Given the description of an element on the screen output the (x, y) to click on. 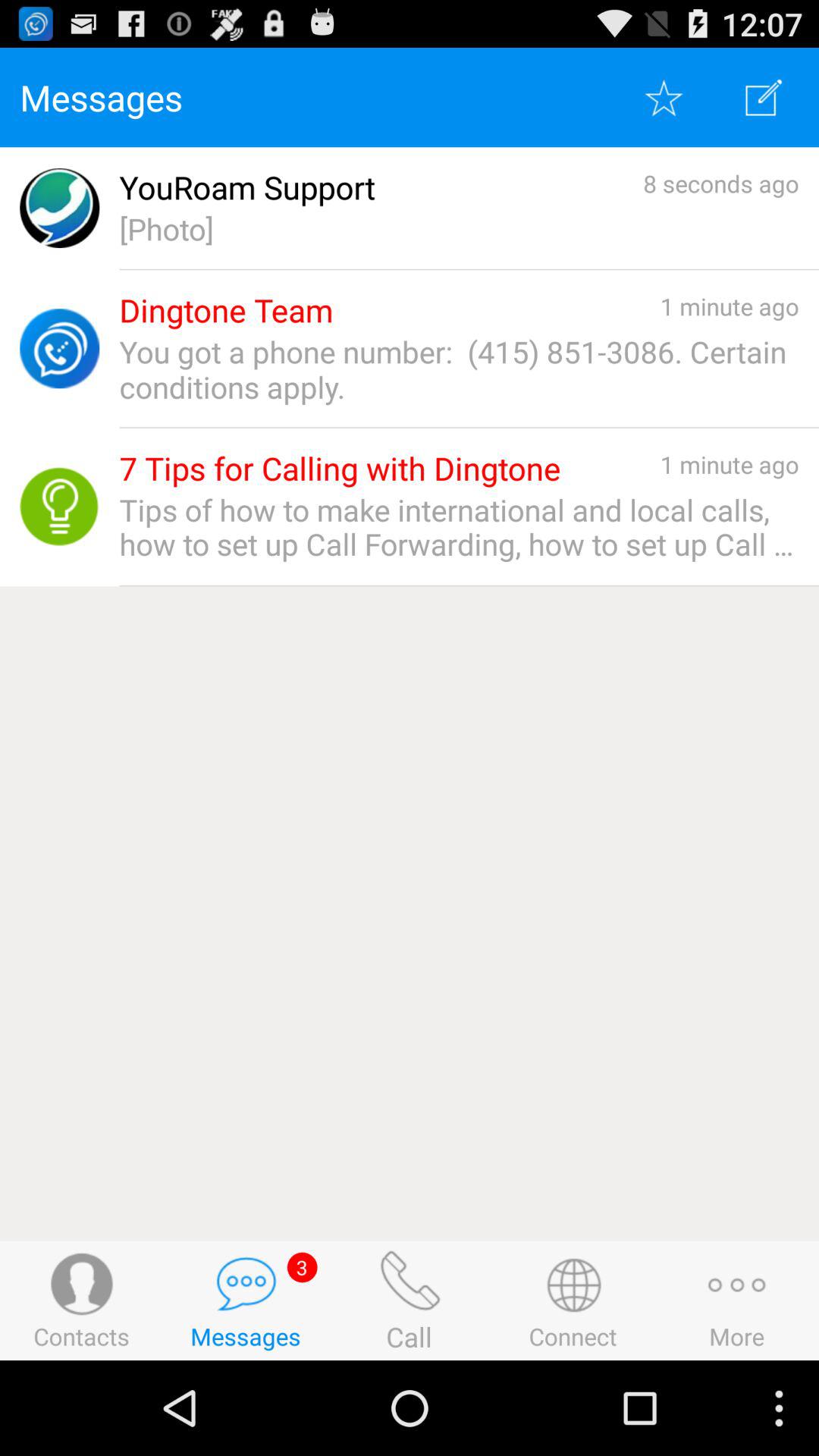
launch icon next to youroam support (721, 183)
